Given the description of an element on the screen output the (x, y) to click on. 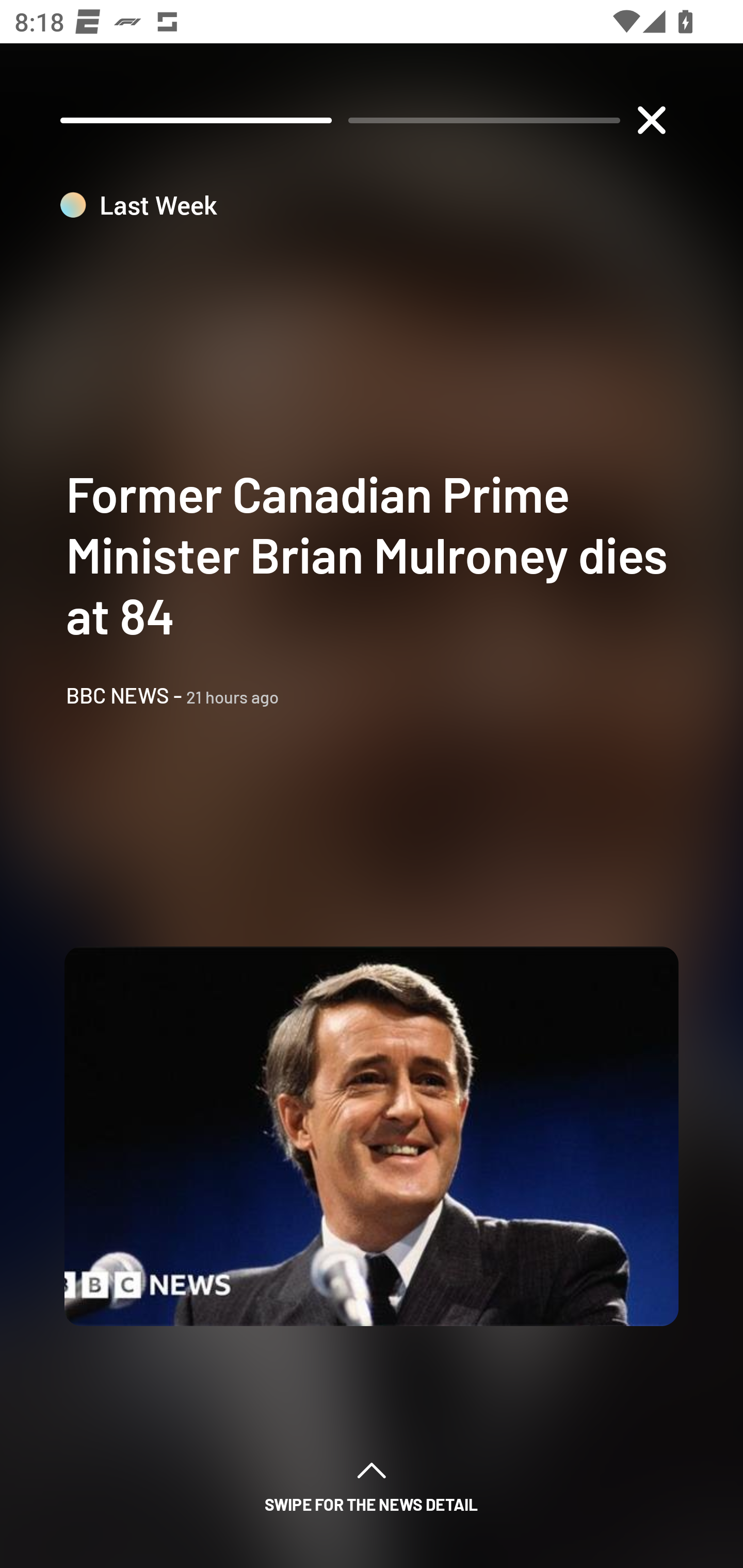
Close Highlights (651, 119)
